Given the description of an element on the screen output the (x, y) to click on. 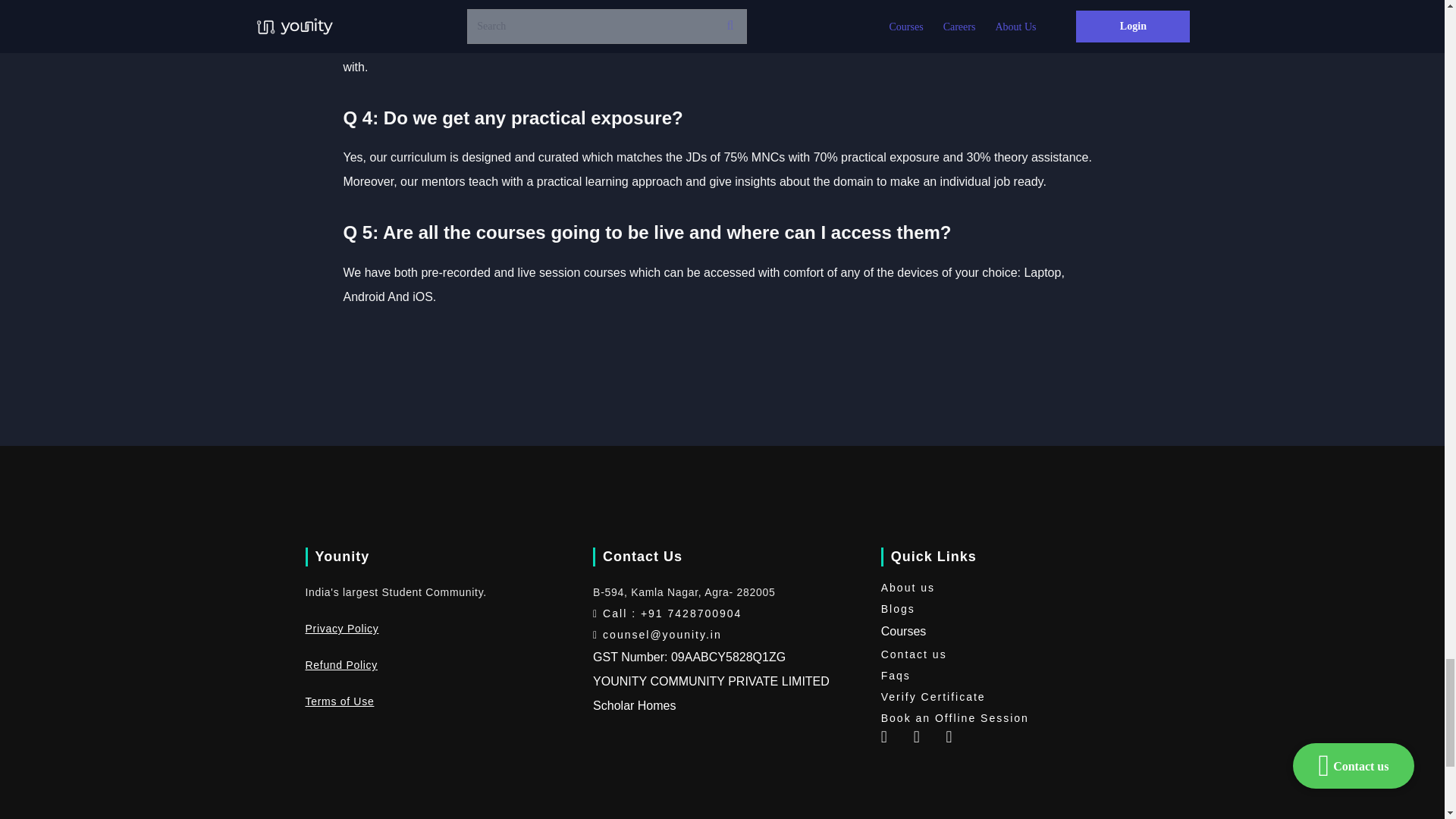
About us (1009, 587)
Blogs (1009, 608)
Contact us (1009, 654)
Courses (903, 631)
Faqs (1009, 675)
Privacy Policy (341, 628)
Refund Policy (340, 664)
Terms of Use (339, 701)
